Given the description of an element on the screen output the (x, y) to click on. 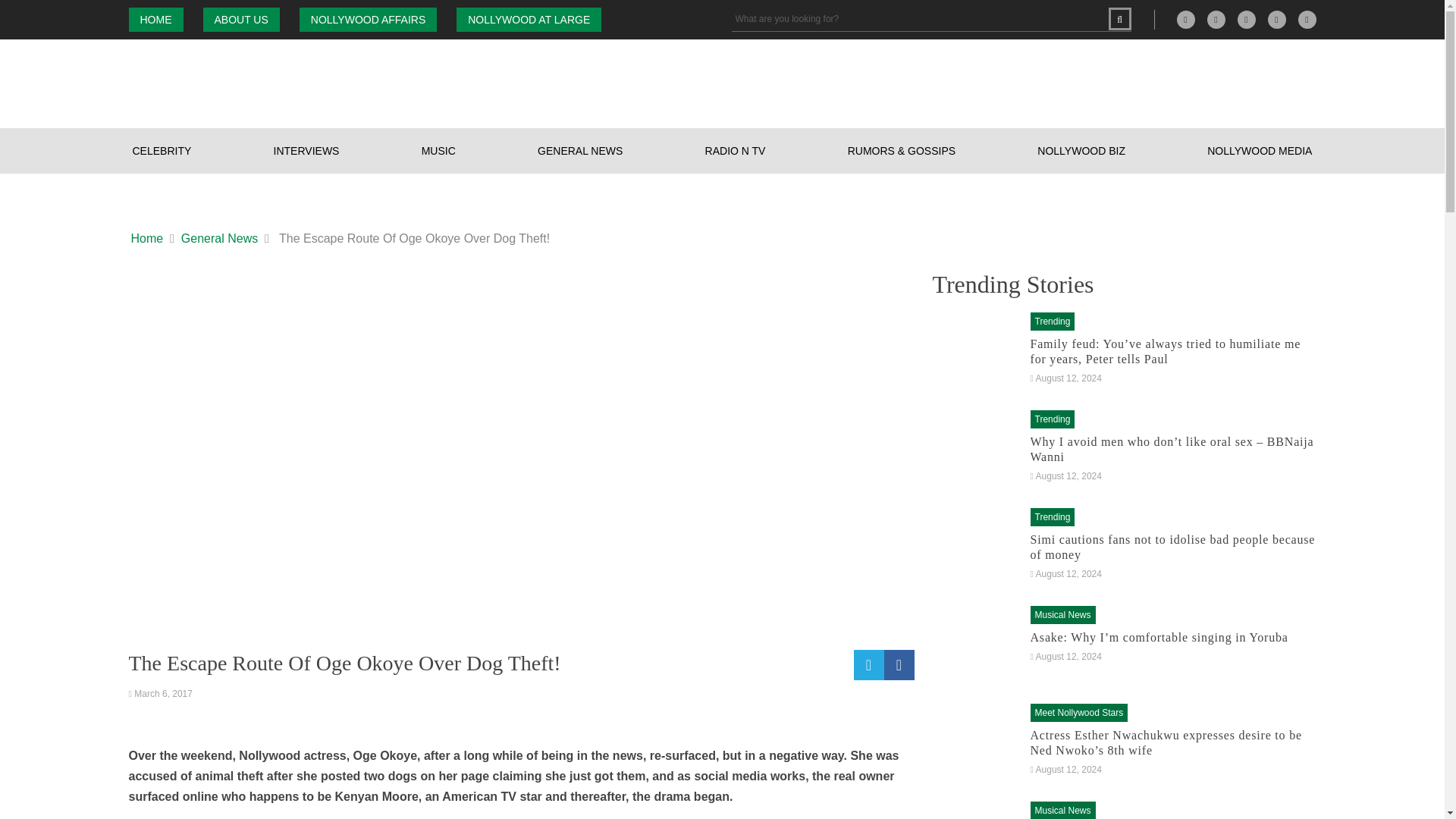
Home (147, 239)
INTERVIEWS (306, 150)
GENERAL NEWS (580, 150)
NOLLYWOOD MEDIA (1260, 150)
instagram (1246, 19)
CELEBRITY (162, 150)
Youtube (1307, 19)
NOLLYWOOD AFFAIRS (367, 19)
RADIO N TV (735, 150)
General News (218, 239)
